Given the description of an element on the screen output the (x, y) to click on. 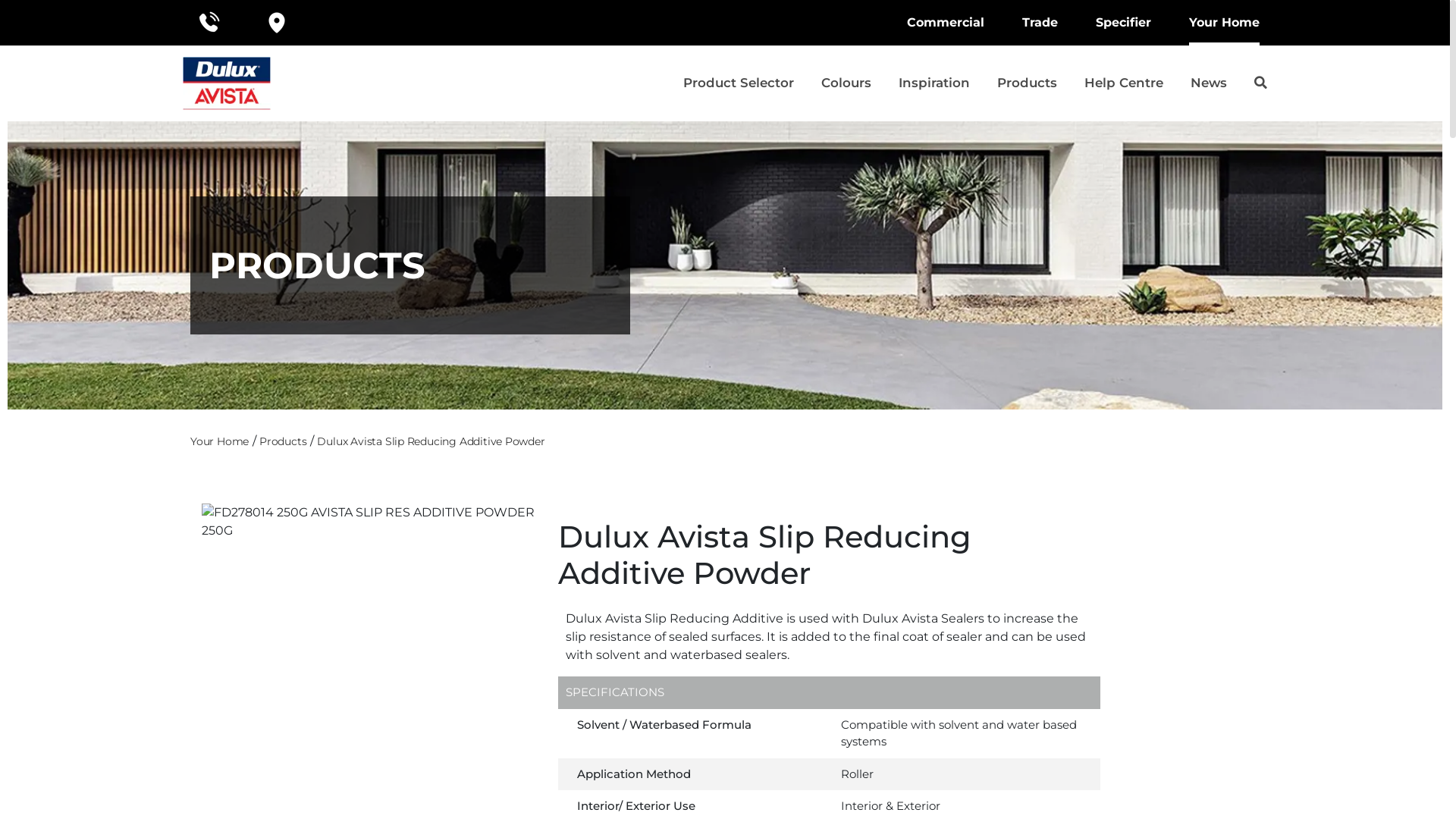
Your Home Element type: text (1224, 22)
Commercial Element type: text (945, 22)
Inspiration Element type: text (933, 82)
Your Home Element type: text (219, 441)
Products Element type: text (1027, 82)
Colours Element type: text (846, 82)
News Element type: text (1208, 82)
Specifier Element type: text (1123, 22)
Trade Element type: text (1039, 22)
Help Centre Element type: text (1123, 82)
Dulux Avista Slip Reducing Additive Powder Element type: text (430, 441)
Product Selector Element type: text (738, 82)
Products Element type: text (282, 441)
